Given the description of an element on the screen output the (x, y) to click on. 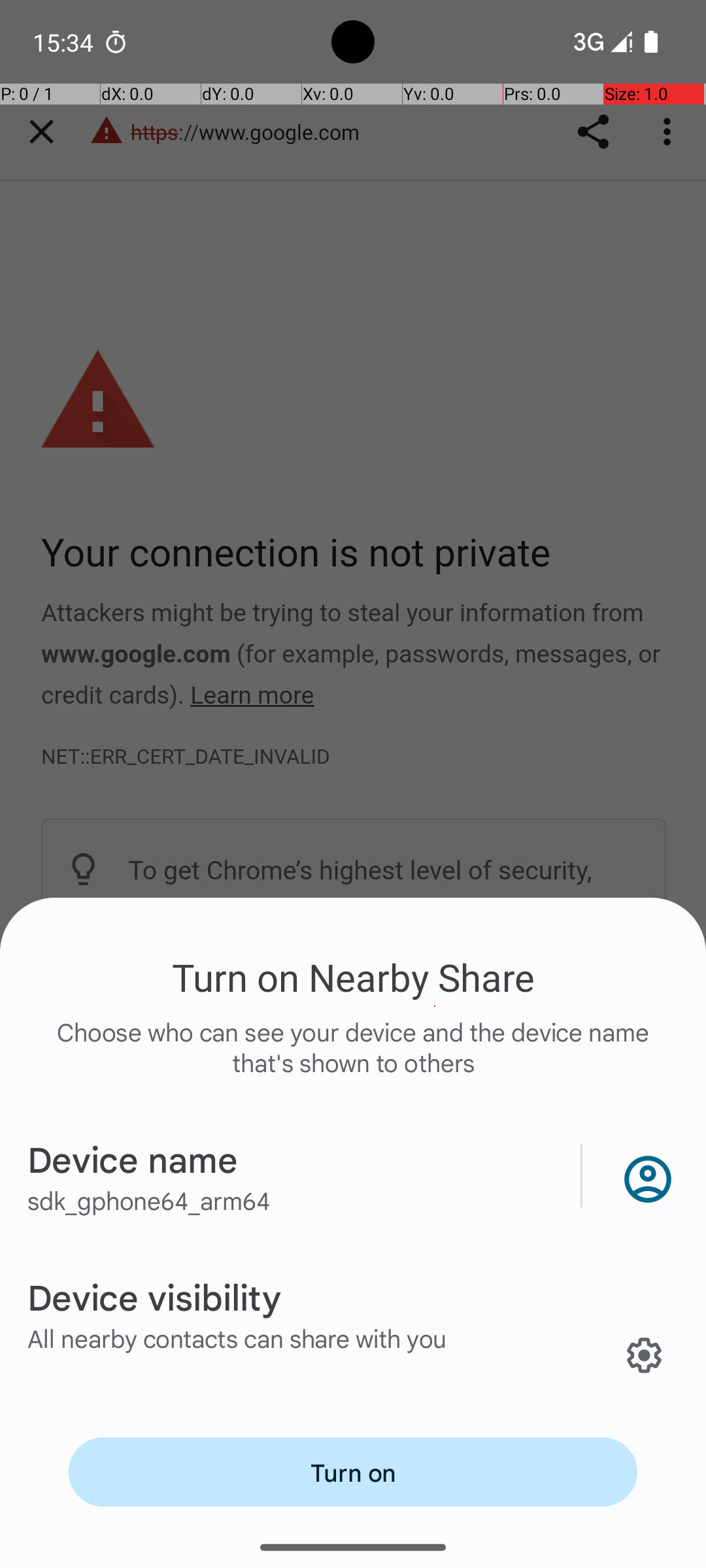
Turn on Nearby Share Element type: android.widget.TextView (353, 976)
Choose who can see your device and the device name that's shown to others Element type: android.widget.TextView (353, 1060)
Turn on Element type: android.widget.Button (352, 1471)
All nearby contacts can share with you Element type: android.widget.TextView (237, 1338)
